Given the description of an element on the screen output the (x, y) to click on. 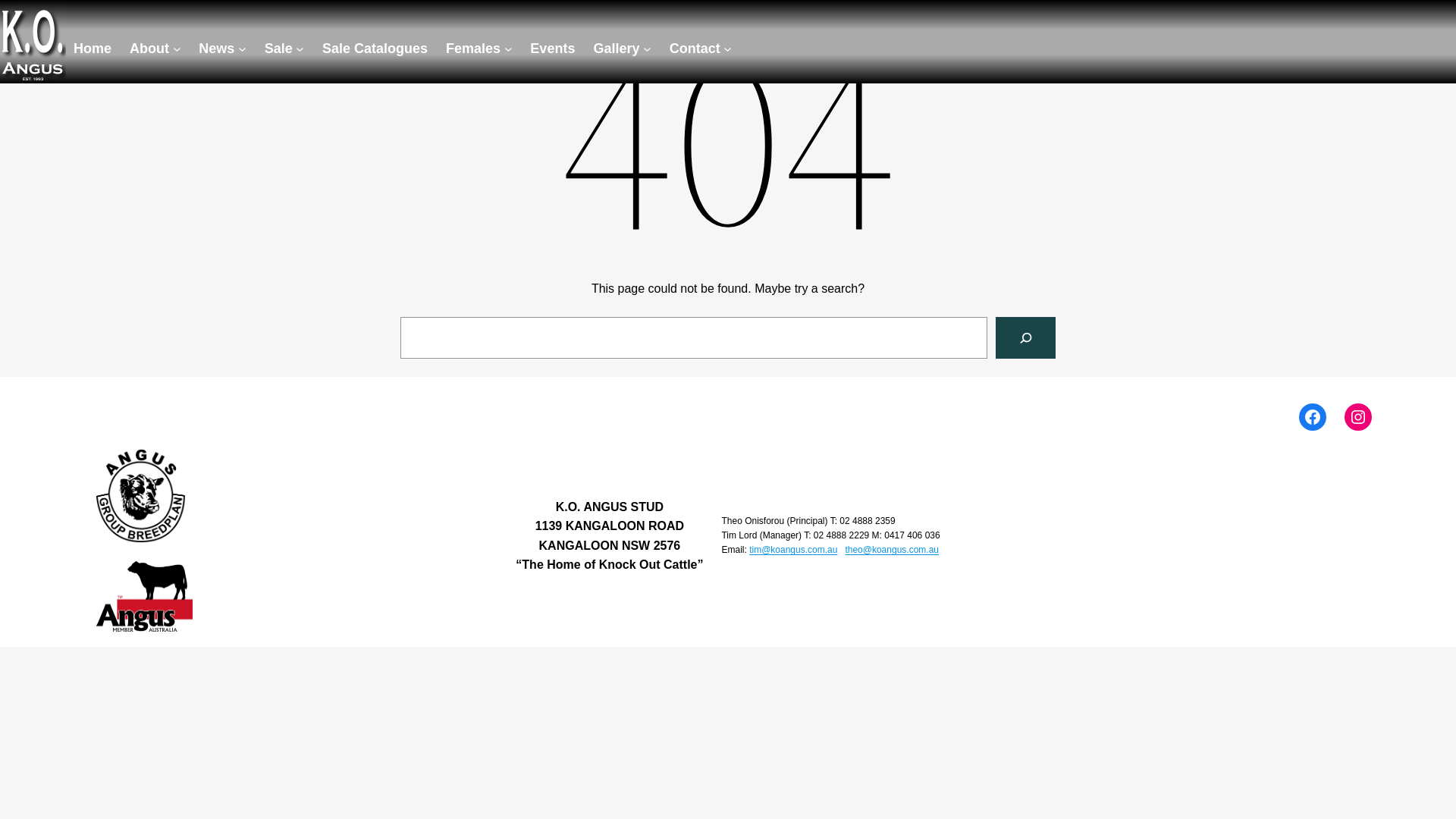
Contact Element type: text (700, 48)
Events Element type: text (552, 48)
Females Element type: text (478, 48)
Gallery Element type: text (621, 48)
Instagram Element type: text (1357, 416)
News Element type: text (221, 48)
Sale Element type: text (284, 48)
Facebook Element type: text (1312, 416)
theo@koangus.com.au Element type: text (891, 549)
Home Element type: text (92, 48)
Sale Catalogues Element type: text (374, 48)
tim@koangus.com.au Element type: text (793, 549)
About Element type: text (154, 48)
